Given the description of an element on the screen output the (x, y) to click on. 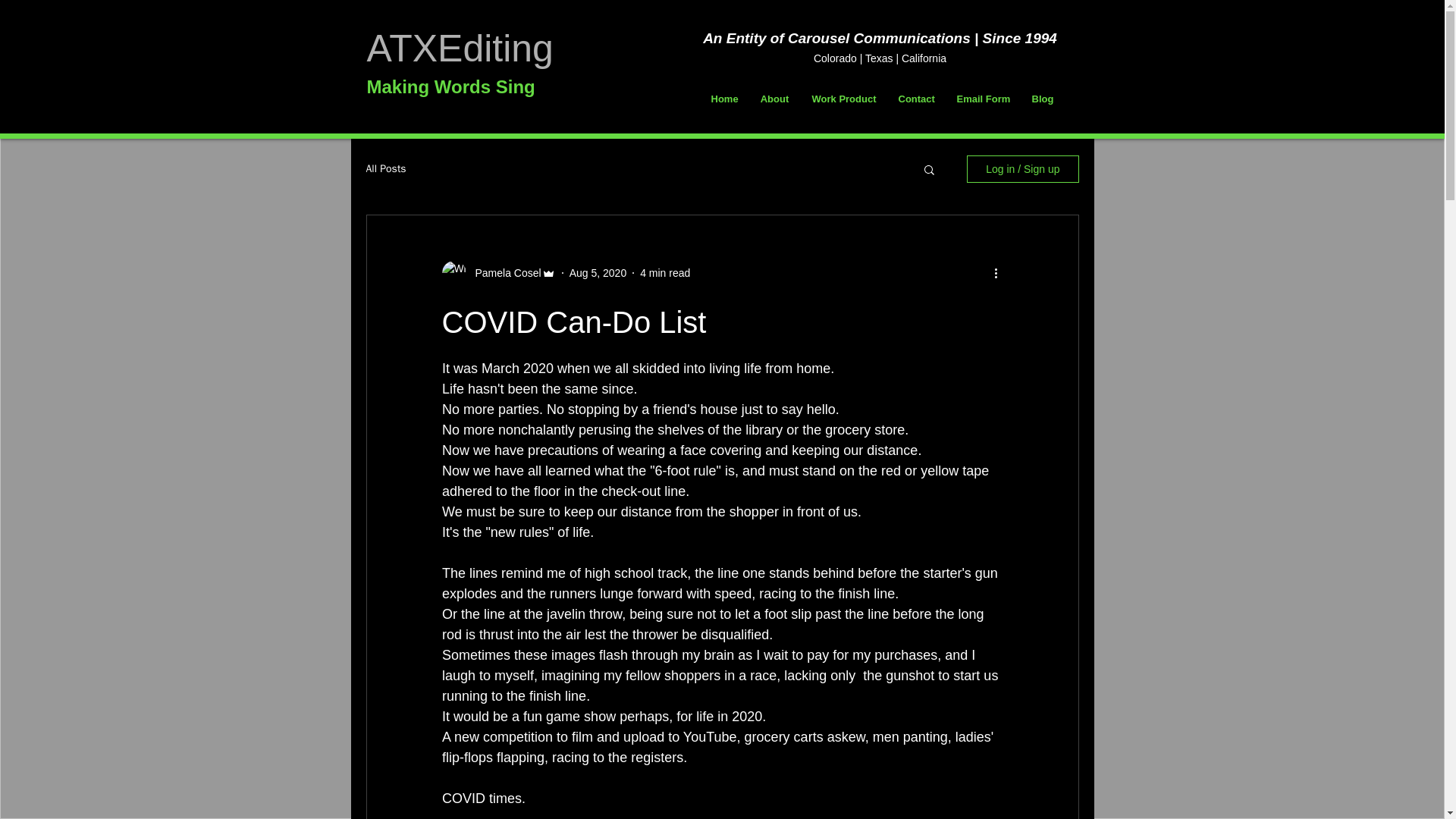
Email Form (982, 98)
ATXEditing (459, 48)
Blog (1042, 98)
Contact (915, 98)
All Posts (385, 169)
4 min read (665, 272)
Aug 5, 2020 (598, 272)
Home (723, 98)
About (774, 98)
Work Product (843, 98)
